Given the description of an element on the screen output the (x, y) to click on. 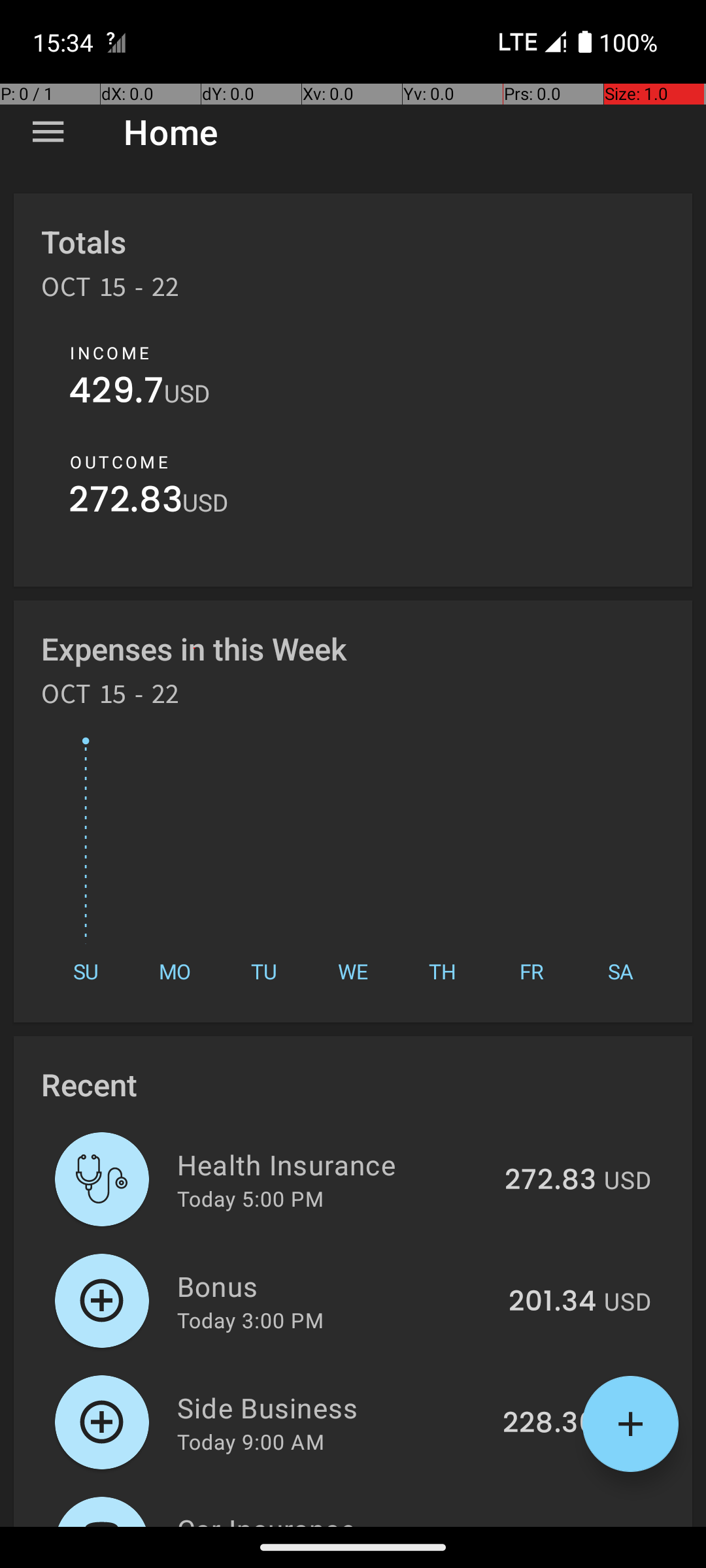
429.7 Element type: android.widget.TextView (116, 393)
272.83 Element type: android.widget.TextView (125, 502)
Health Insurance Element type: android.widget.TextView (333, 1164)
201.34 Element type: android.widget.TextView (551, 1301)
Side Business Element type: android.widget.TextView (332, 1407)
Today 9:00 AM Element type: android.widget.TextView (250, 1441)
228.36 Element type: android.widget.TextView (549, 1423)
Car Insurance Element type: android.widget.TextView (337, 1518)
461.91 Element type: android.widget.TextView (554, 1524)
